Given the description of an element on the screen output the (x, y) to click on. 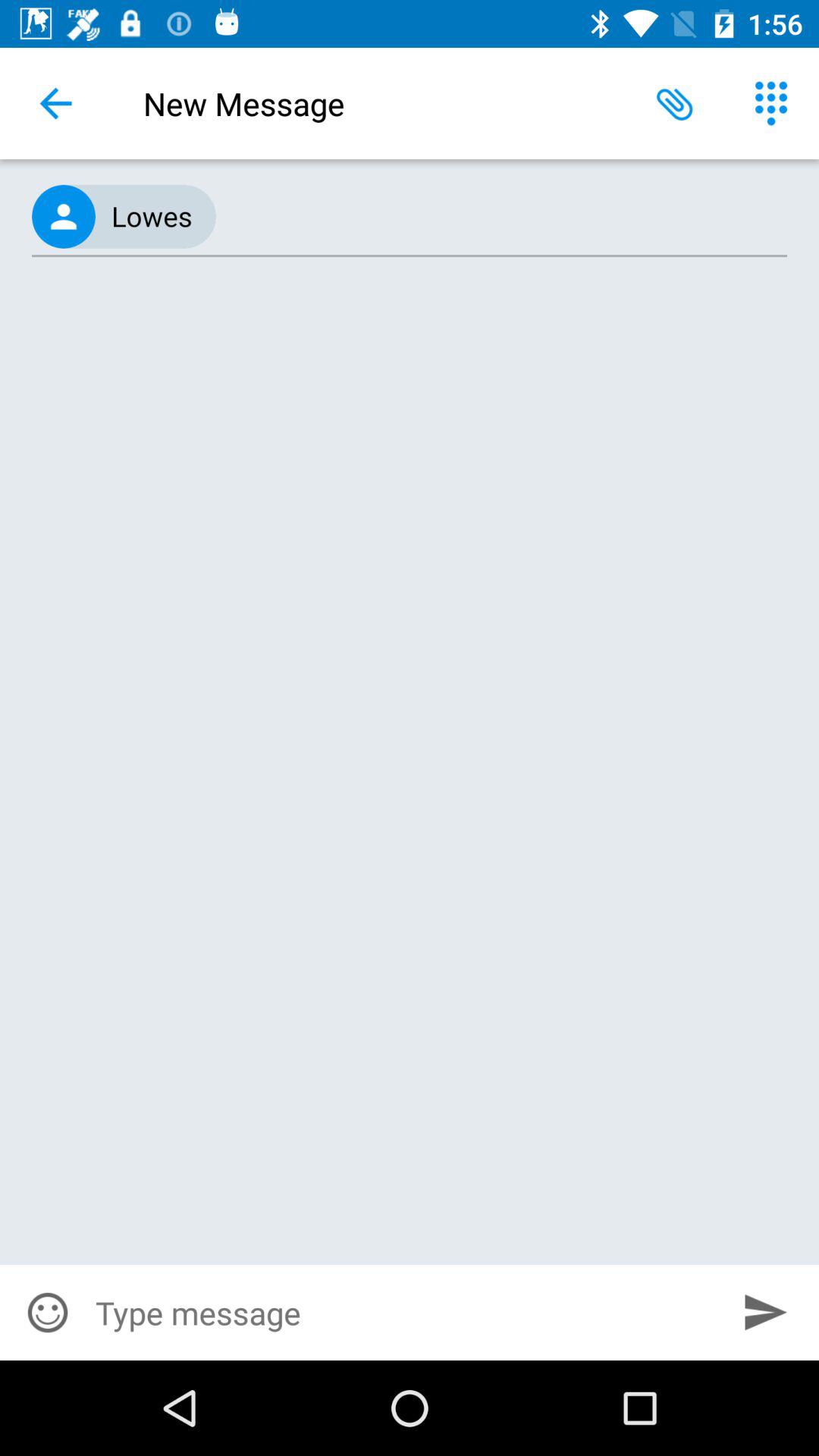
message text entry field (404, 1312)
